Given the description of an element on the screen output the (x, y) to click on. 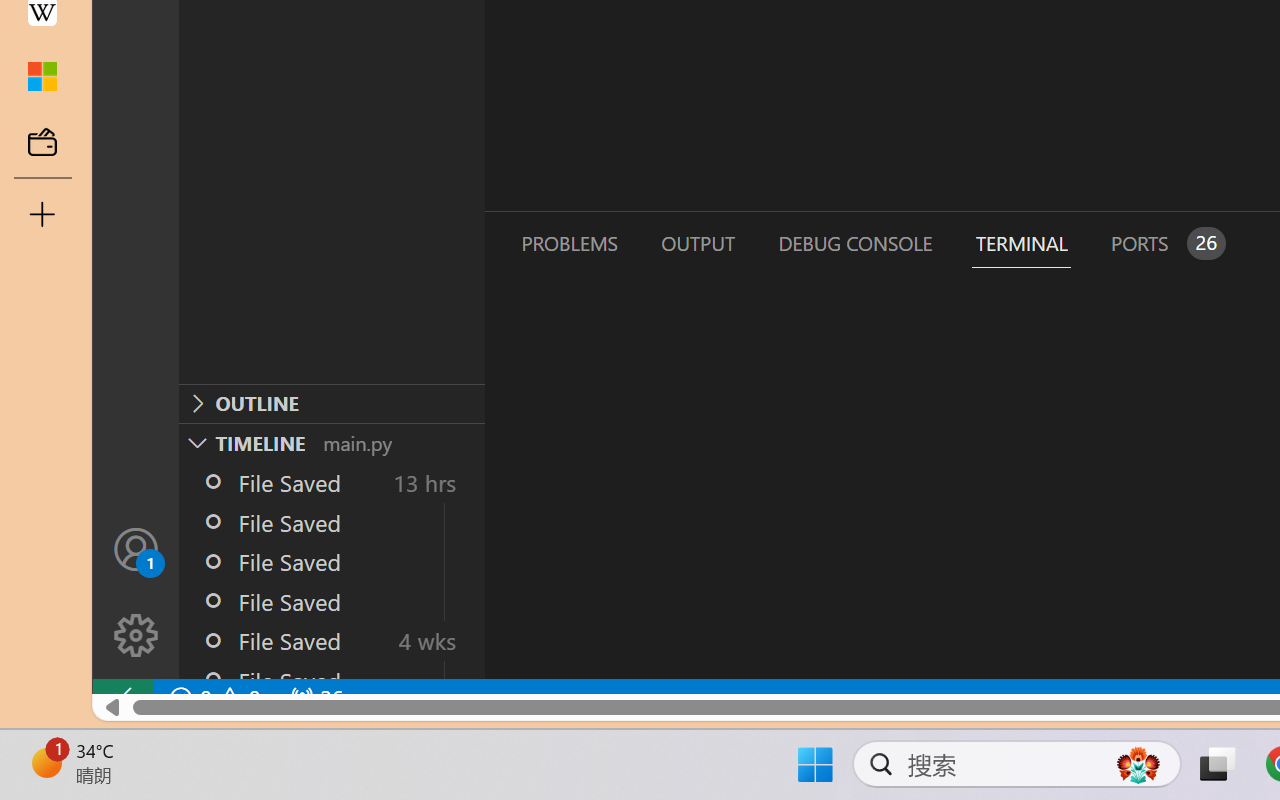
Manage (135, 591)
Accounts - Sign in requested (135, 548)
Terminal (Ctrl+`) (1021, 243)
Manage (135, 635)
Timeline Section (331, 442)
Outline Section (331, 403)
